Given the description of an element on the screen output the (x, y) to click on. 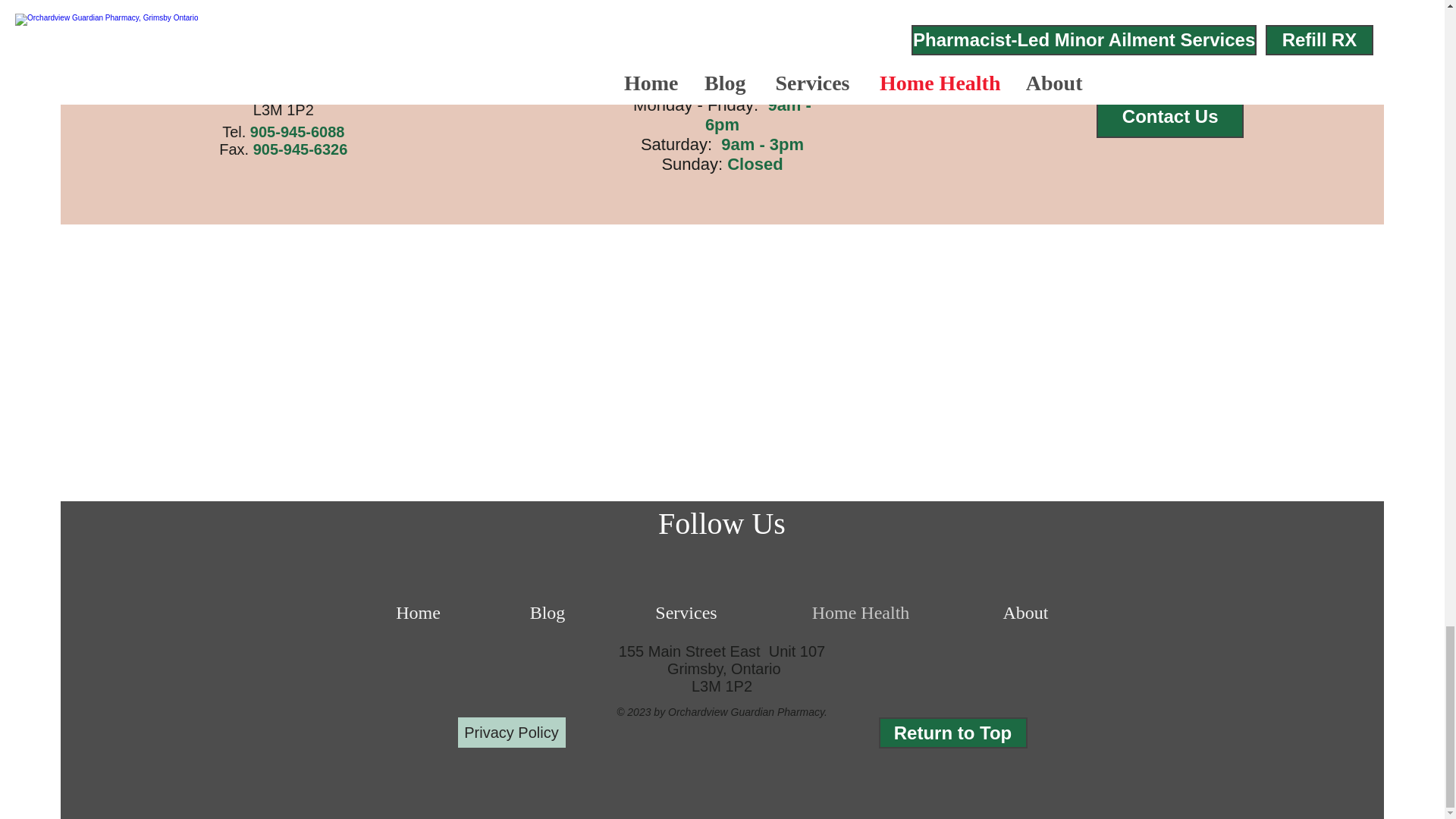
Contact Us (1169, 116)
905-945-6326 (300, 149)
Blog (547, 612)
905-945-6088 (297, 131)
Home (417, 612)
